Given the description of an element on the screen output the (x, y) to click on. 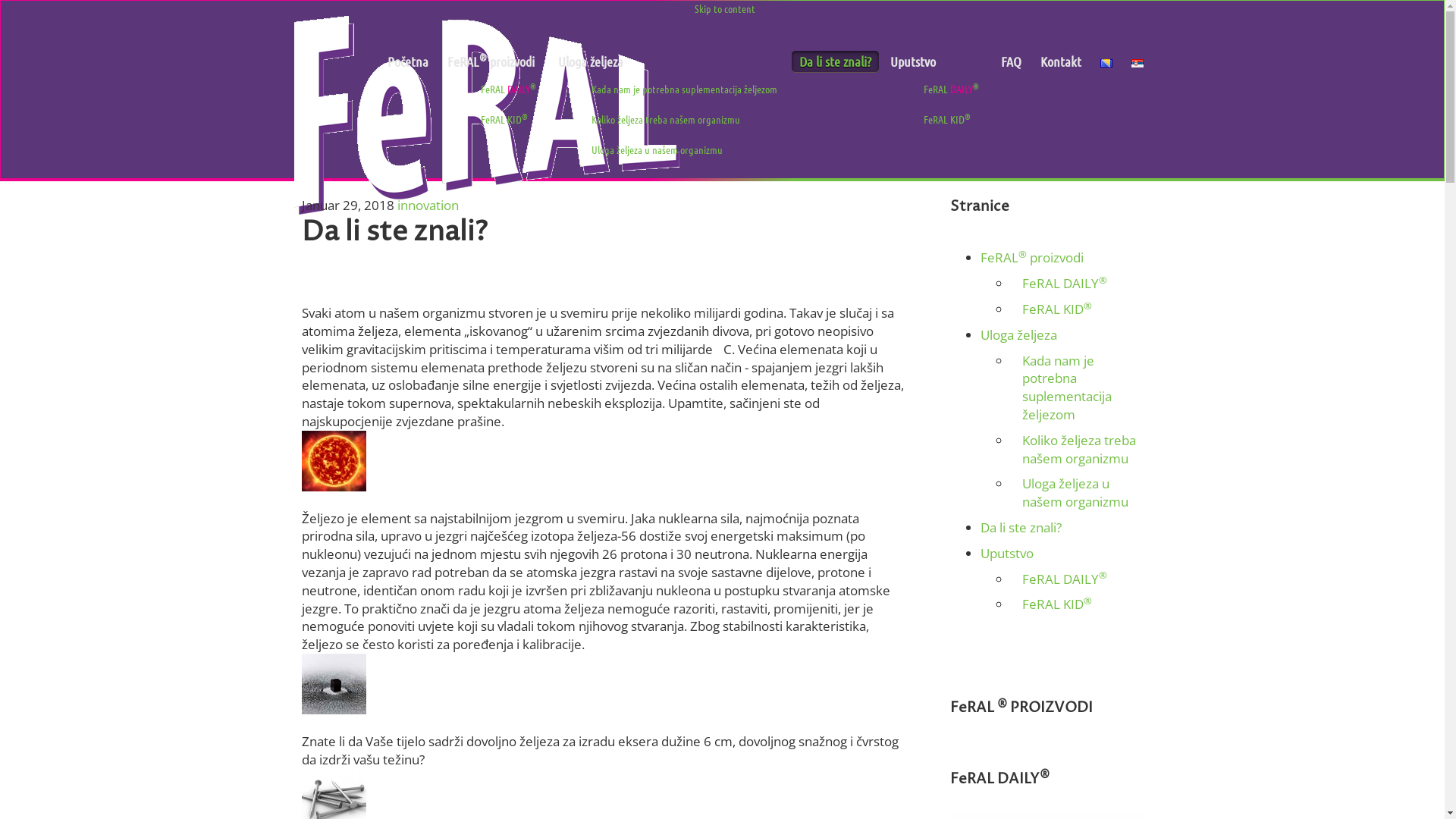
Da li ste znali? Element type: text (834, 61)
Bosanski Element type: hover (1105, 63)
Uputstvo Element type: text (935, 61)
FAQ Element type: text (1011, 61)
Uputstvo Element type: text (1005, 552)
Da li ste znali? Element type: text (1019, 527)
Skip to content Element type: text (724, 8)
Kontakt Element type: text (1060, 61)
innovation Element type: text (427, 204)
